Given the description of an element on the screen output the (x, y) to click on. 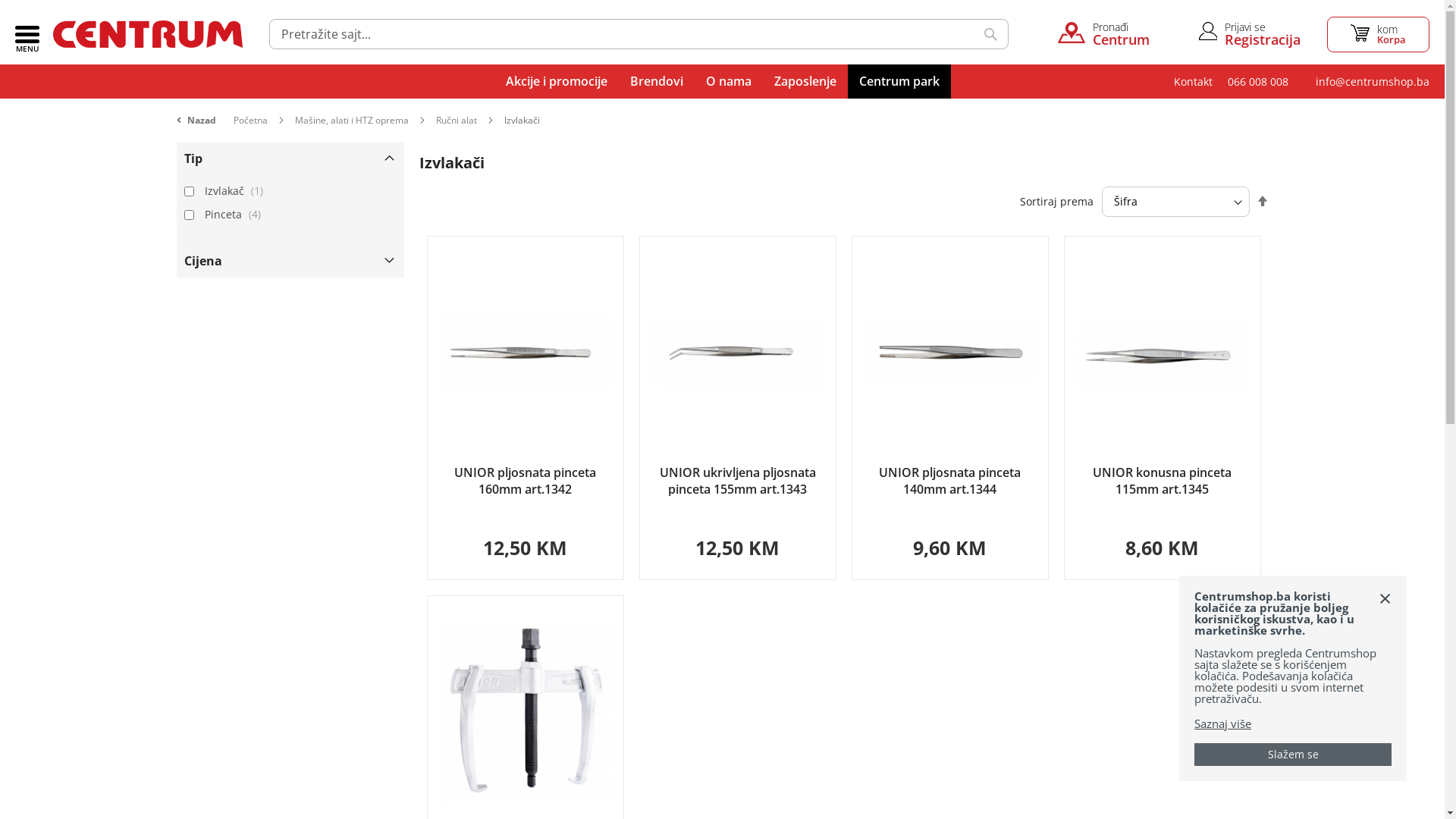
Korpa Element type: text (1377, 34)
Pinceta
4
items Element type: text (234, 214)
UNIOR ukrivljena pljosnata pinceta 155mm art.1343 Element type: text (737, 480)
UNIOR pljosnata pinceta 160mm art.1342 Element type: text (525, 480)
Registracija Element type: text (1262, 39)
Centrum park Element type: text (898, 81)
Set Descending Direction Element type: text (1261, 201)
UNIOR konusna pinceta 115mm art.1345 Element type: text (1161, 480)
MENU Element type: text (27, 34)
Prijavi se Element type: text (1262, 26)
O nama Element type: text (728, 81)
Akcije i promocije Element type: text (556, 81)
Zaposlenje Element type: text (804, 81)
Centrum Element type: hover (147, 33)
UNIOR pljosnata pinceta 140mm art.1344 Element type: text (949, 480)
Brendovi Element type: text (656, 81)
Nazad Element type: text (202, 112)
